Given the description of an element on the screen output the (x, y) to click on. 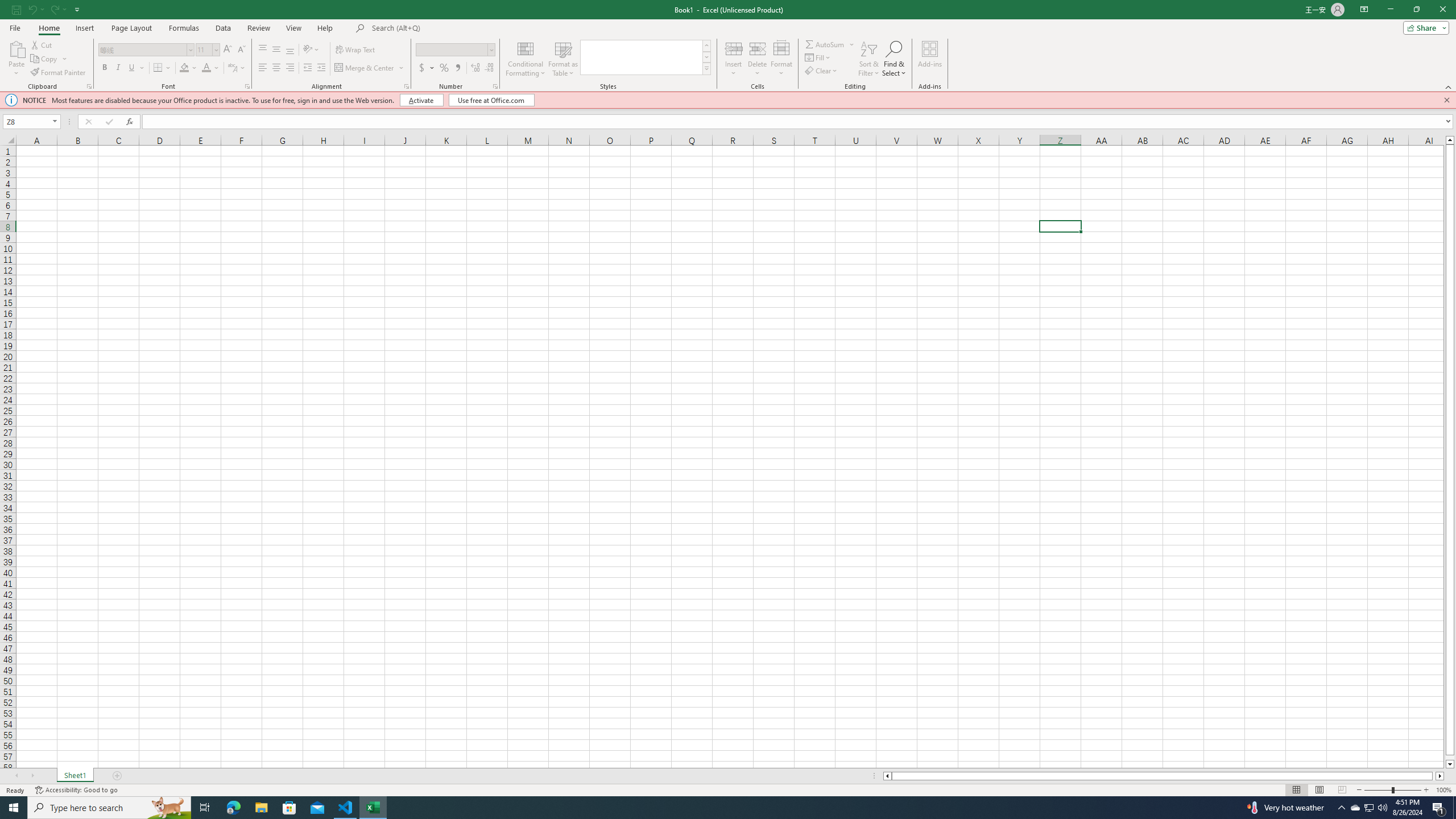
Cut (42, 44)
Delete Cells... (757, 48)
Number Format (451, 49)
Increase Decimal (474, 67)
Decrease Decimal (489, 67)
Insert Cells (733, 48)
